Given the description of an element on the screen output the (x, y) to click on. 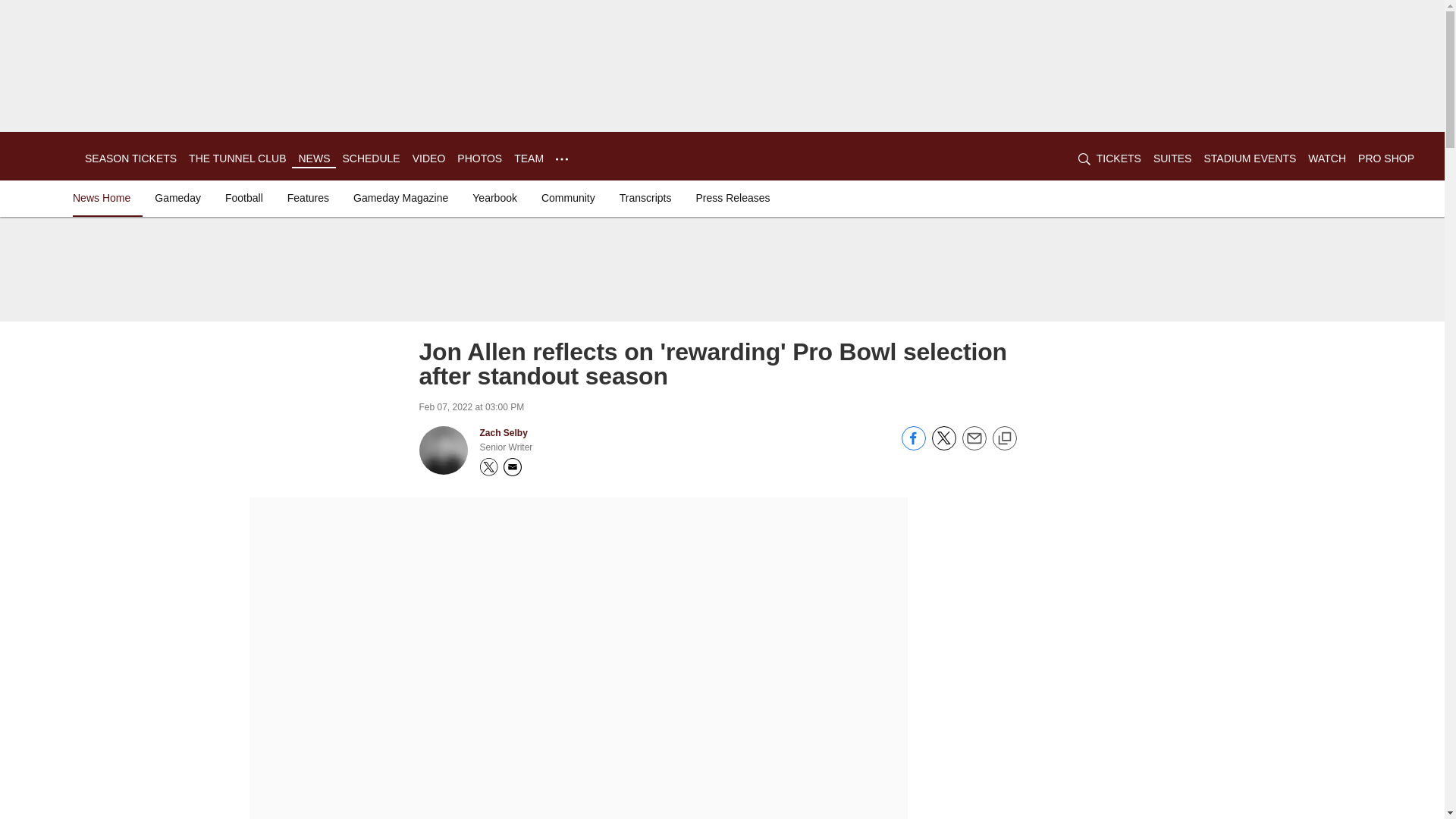
NEWS (314, 157)
Transcripts (645, 197)
... (561, 156)
Gameday (177, 197)
SCHEDULE (370, 157)
Link to club's homepage (42, 156)
Zach Selby (503, 432)
STADIUM EVENTS (1249, 157)
THE TUNNEL CLUB (237, 157)
Yearbook (493, 197)
